Given the description of an element on the screen output the (x, y) to click on. 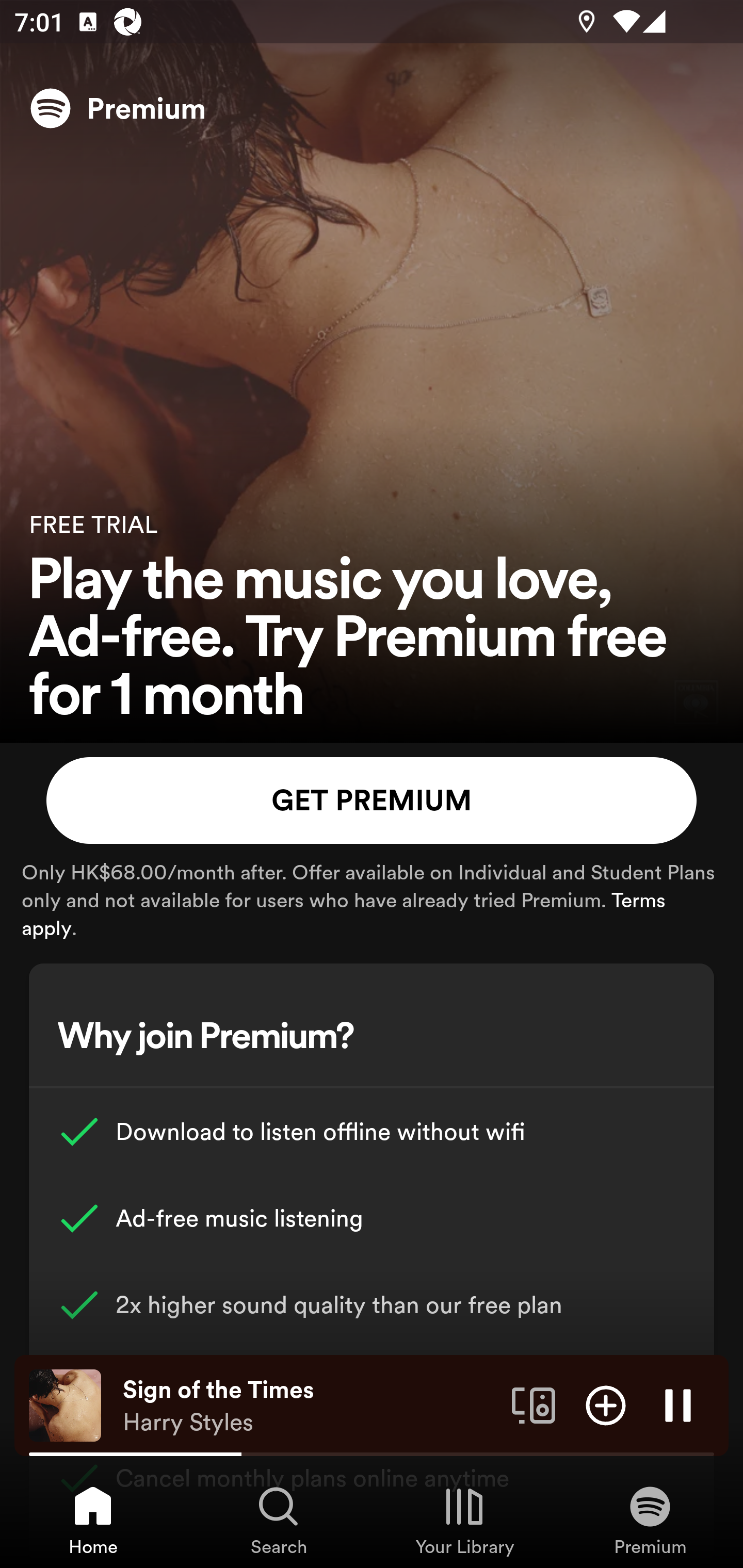
GET PREMIUM (371, 800)
Sign of the Times Harry Styles (309, 1405)
The cover art of the currently playing track (64, 1404)
Connect to a device. Opens the devices menu (533, 1404)
Add item (605, 1404)
Pause (677, 1404)
Home, Tab 1 of 4 Home Home (92, 1519)
Search, Tab 2 of 4 Search Search (278, 1519)
Your Library, Tab 3 of 4 Your Library Your Library (464, 1519)
Premium, Tab 4 of 4 Premium Premium (650, 1519)
